Given the description of an element on the screen output the (x, y) to click on. 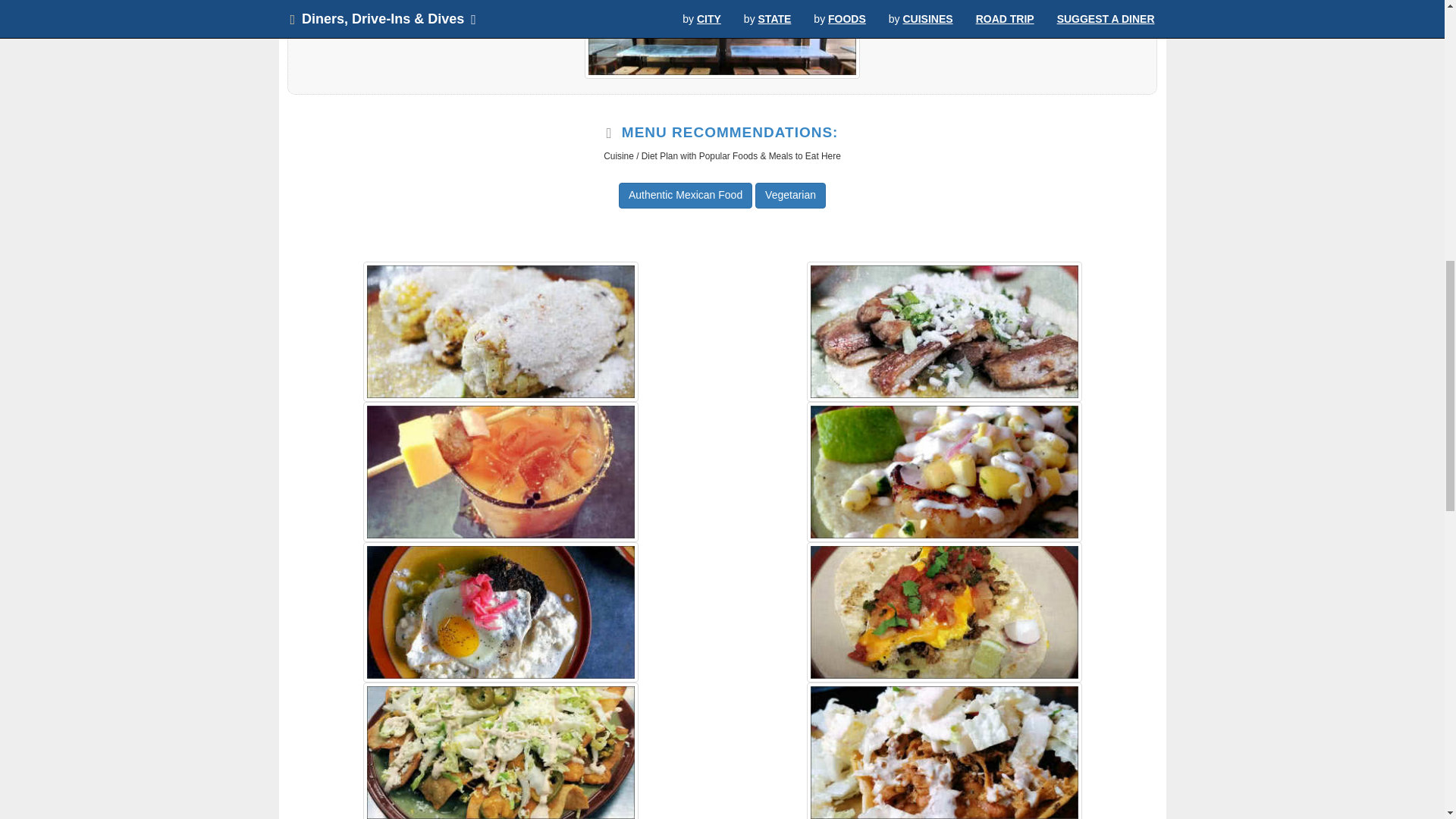
Vegetarian (790, 195)
Authentic Mexican Food (685, 195)
